Given the description of an element on the screen output the (x, y) to click on. 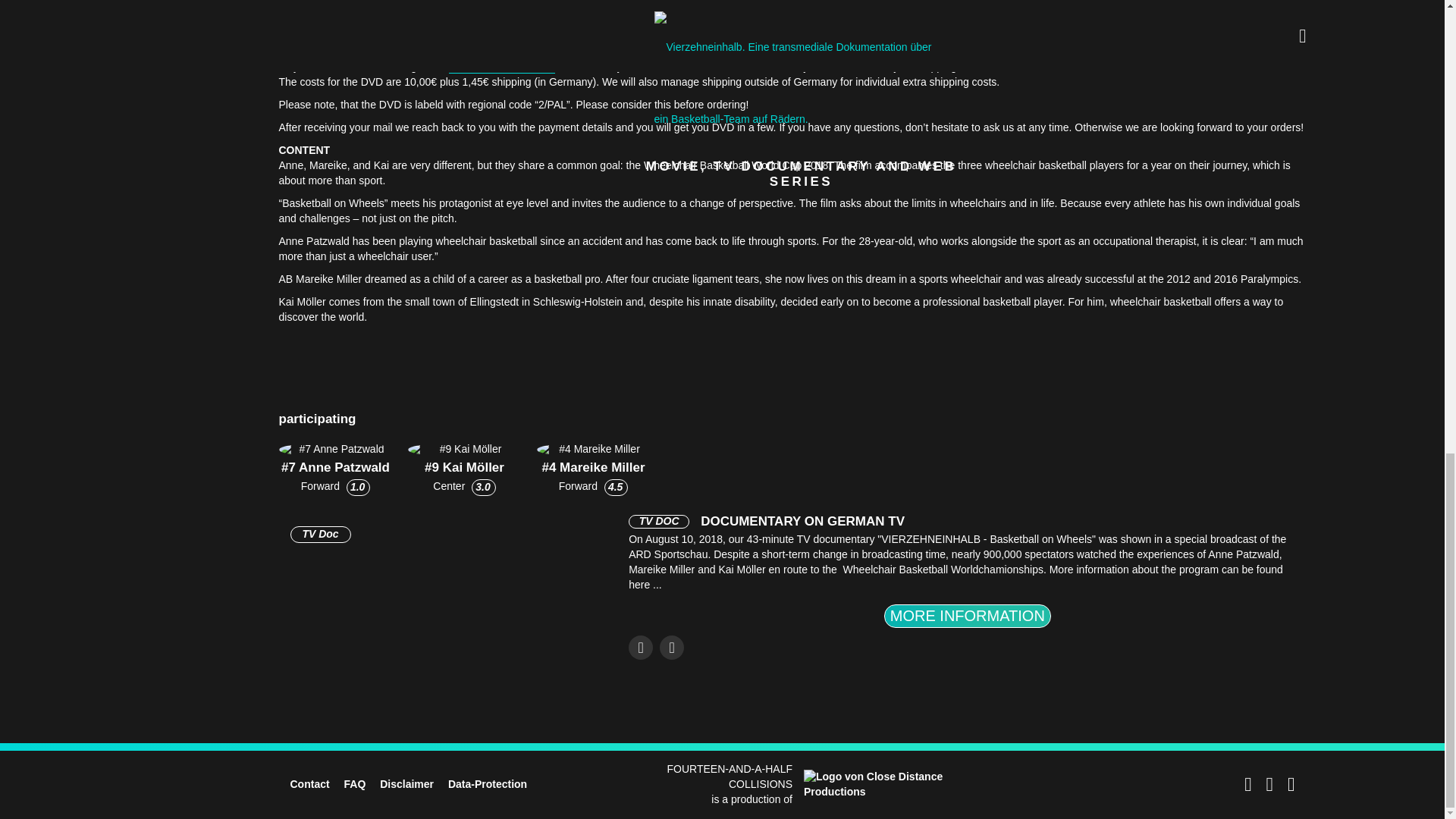
Data-Protection (487, 784)
MORE INFORMATION (967, 616)
Contact (309, 784)
Disclaimer (406, 784)
FAQ (354, 784)
